Given the description of an element on the screen output the (x, y) to click on. 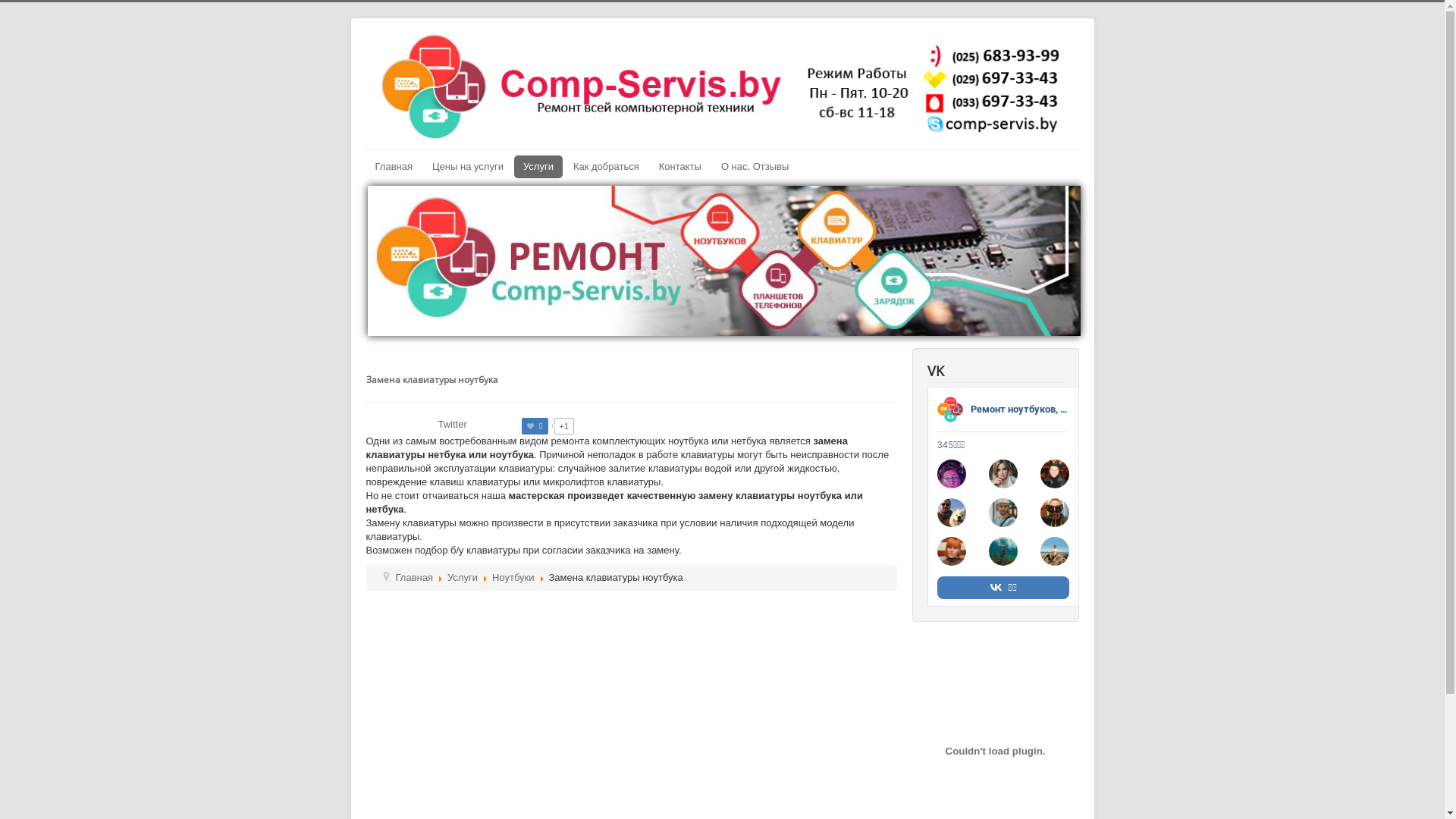
Twitter Element type: text (452, 423)
